Given the description of an element on the screen output the (x, y) to click on. 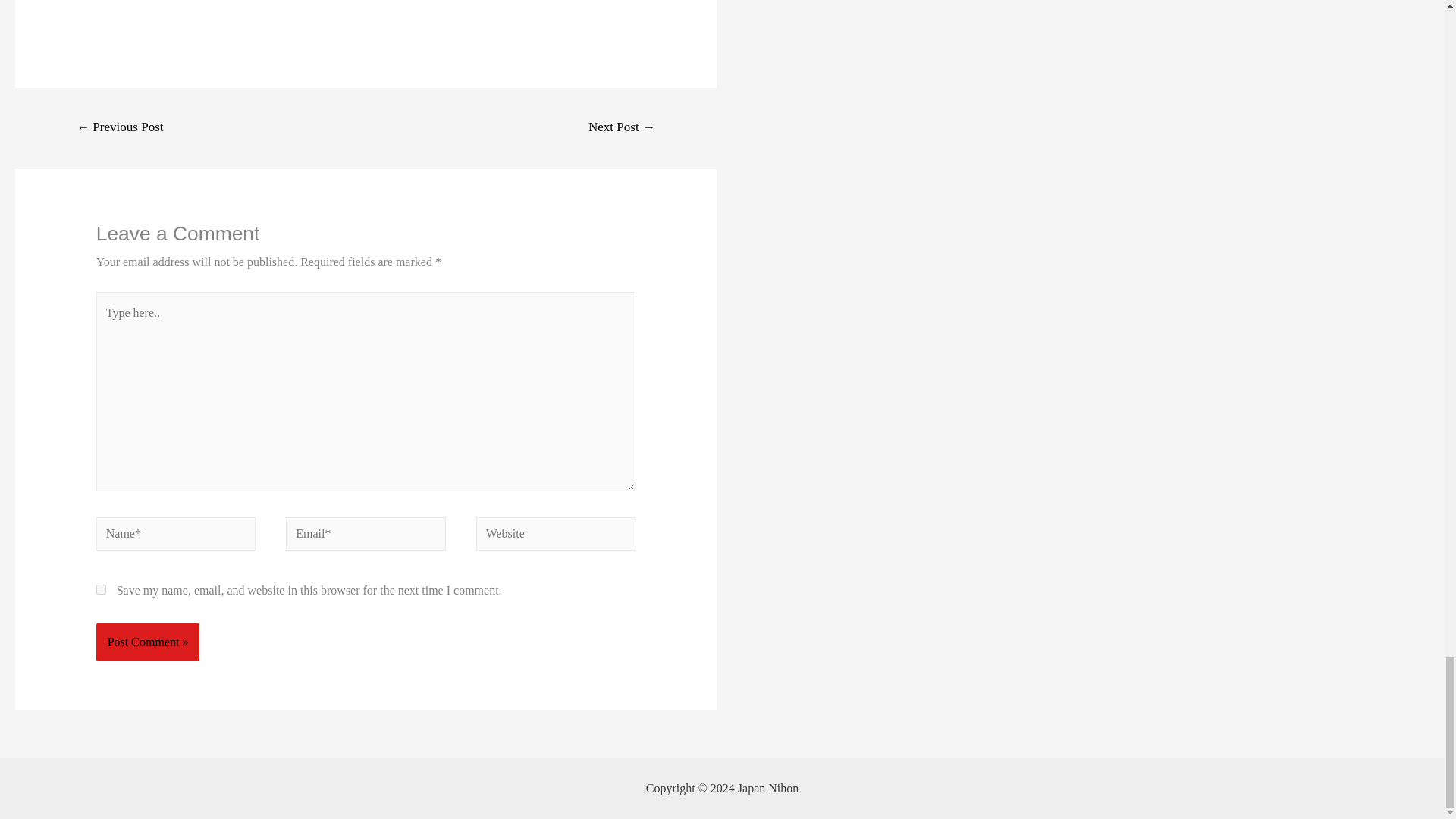
yes (101, 589)
